Given the description of an element on the screen output the (x, y) to click on. 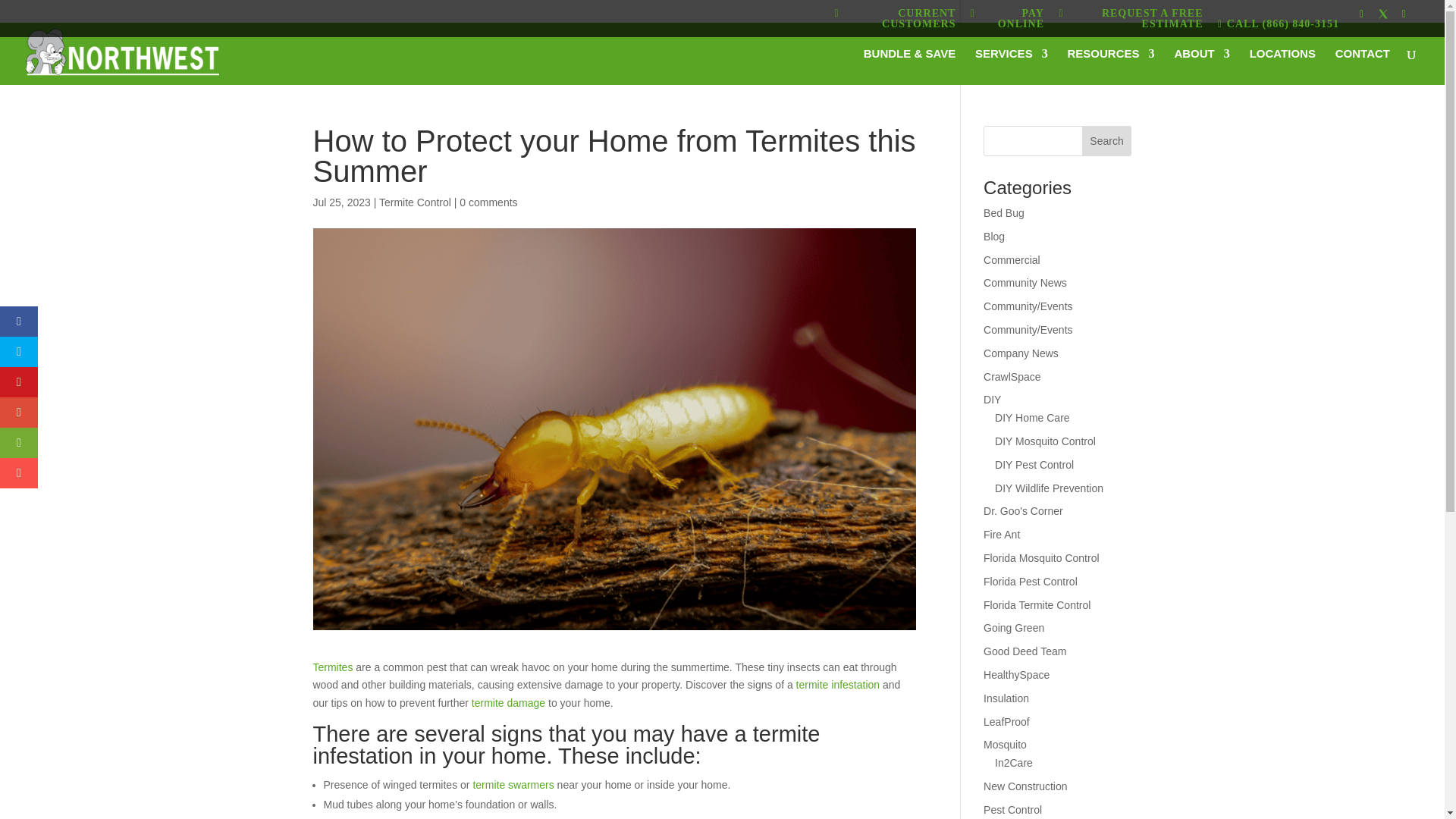
PAY ONLINE (1007, 21)
RESOURCES (1110, 66)
Search (1106, 141)
REQUEST A FREE ESTIMATE (1130, 21)
SERVICES (1011, 66)
ABOUT (1200, 66)
CURRENT CUSTOMERS (894, 21)
